Given the description of an element on the screen output the (x, y) to click on. 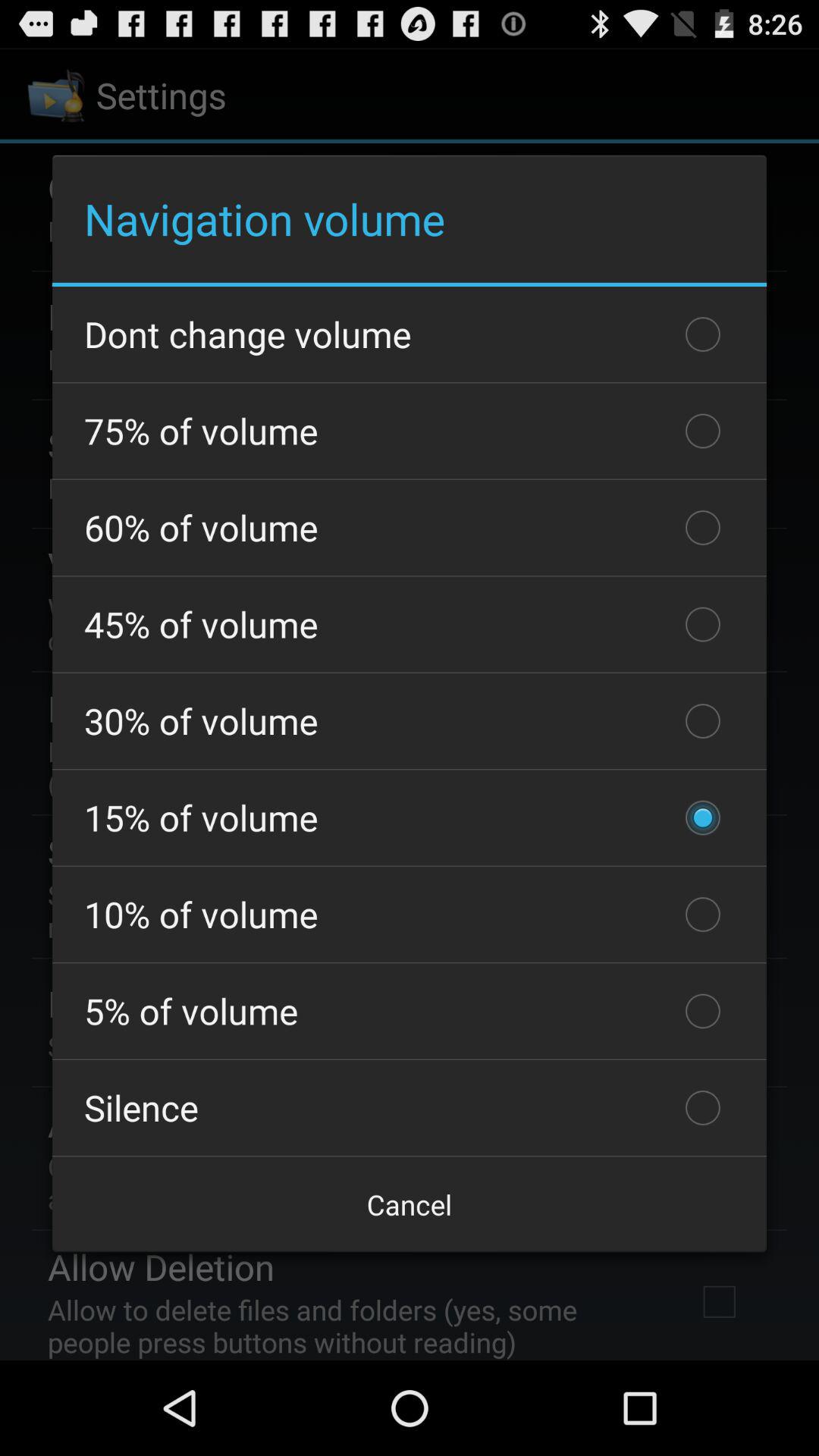
press the checkbox below the silence (409, 1204)
